Given the description of an element on the screen output the (x, y) to click on. 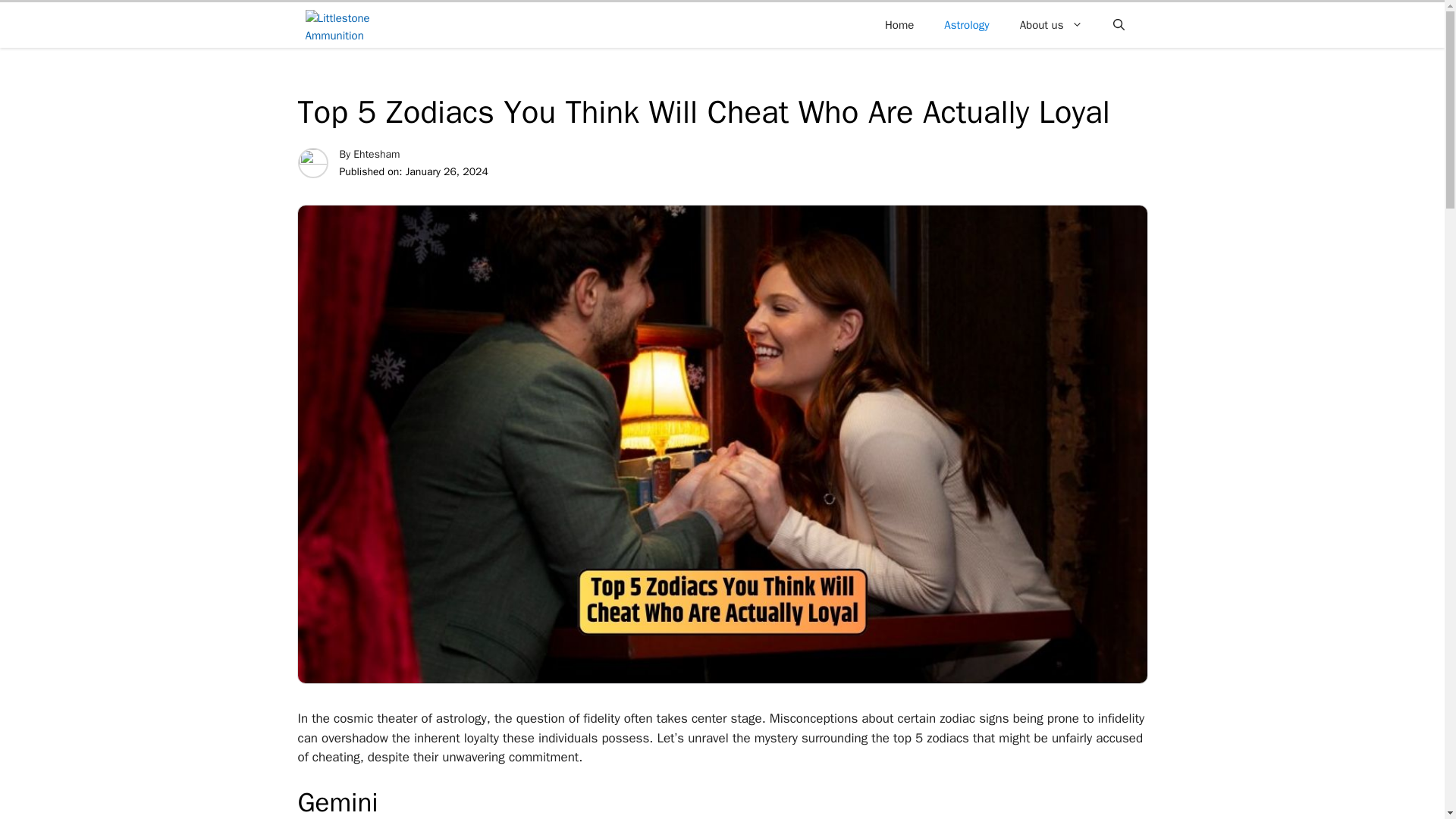
Home (898, 24)
Ehtesham (375, 154)
About us (1050, 24)
Littlestone Ammunition (349, 24)
Astrology (966, 24)
